Given the description of an element on the screen output the (x, y) to click on. 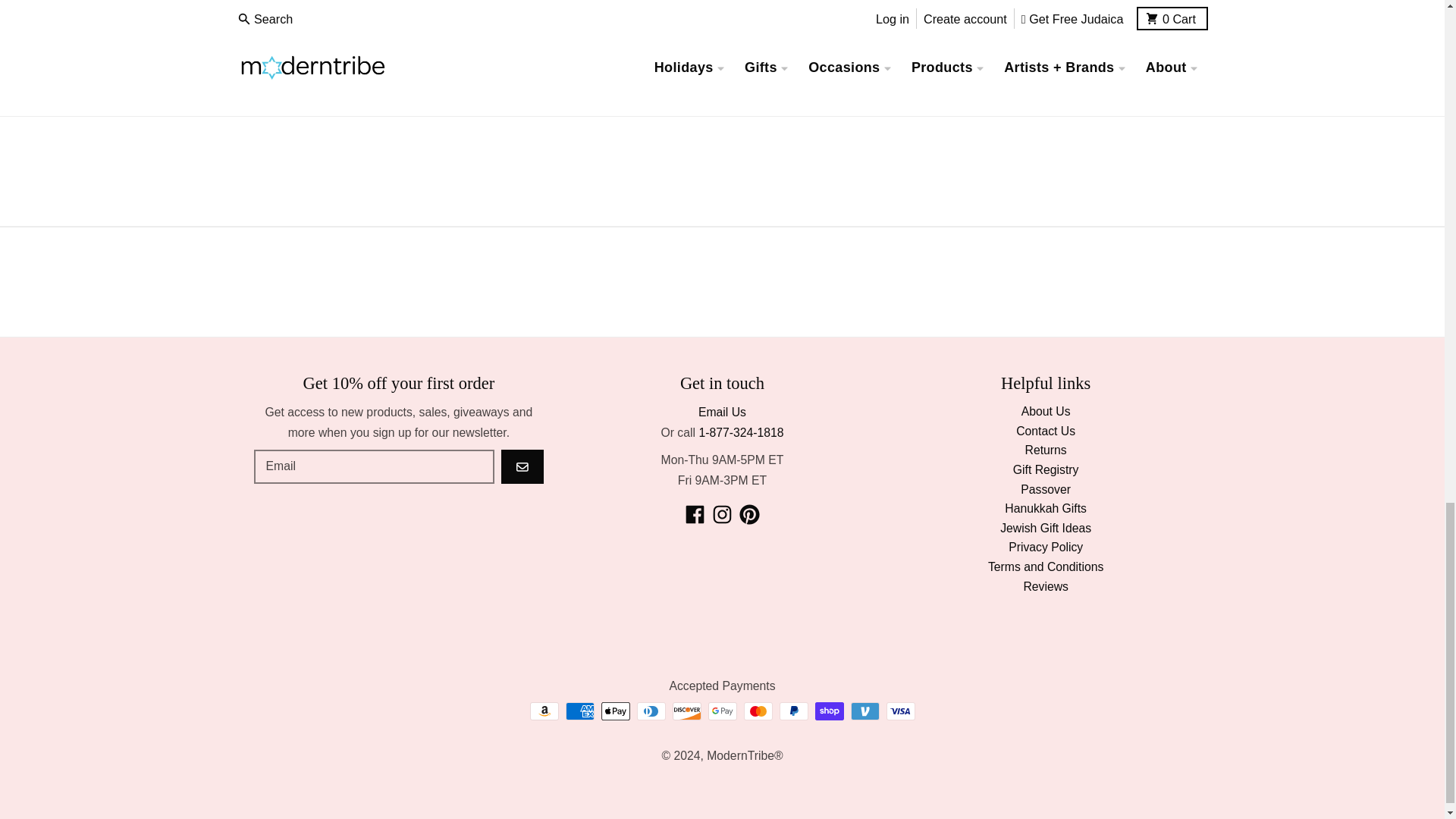
Instagram - ModernTribe (721, 514)
Facebook - ModernTribe (694, 514)
Pinterest - ModernTribe (749, 514)
